Given the description of an element on the screen output the (x, y) to click on. 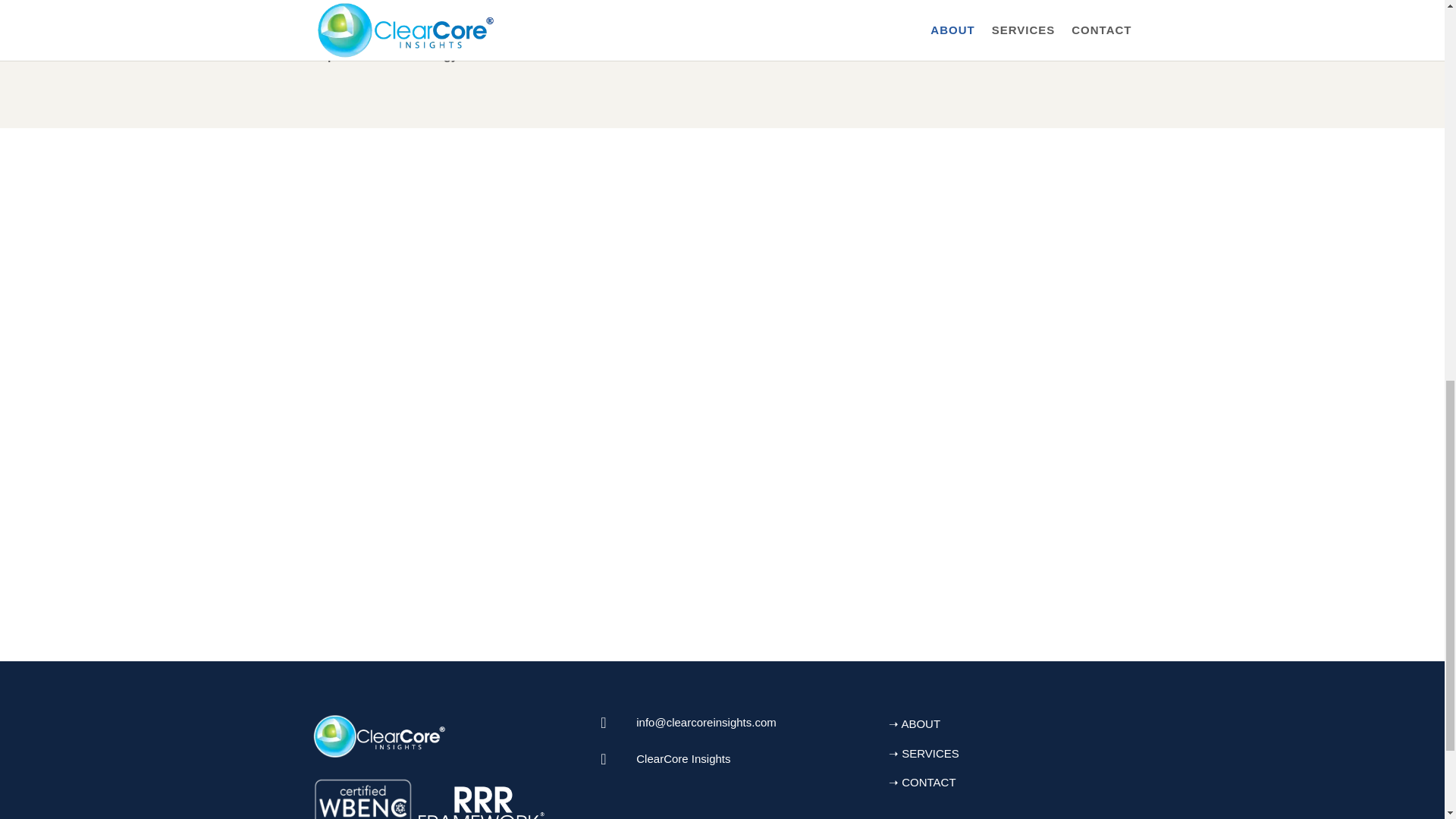
ClearCore Insights (683, 758)
photo-1570126618953-d437176e8c79 (971, 10)
